Given the description of an element on the screen output the (x, y) to click on. 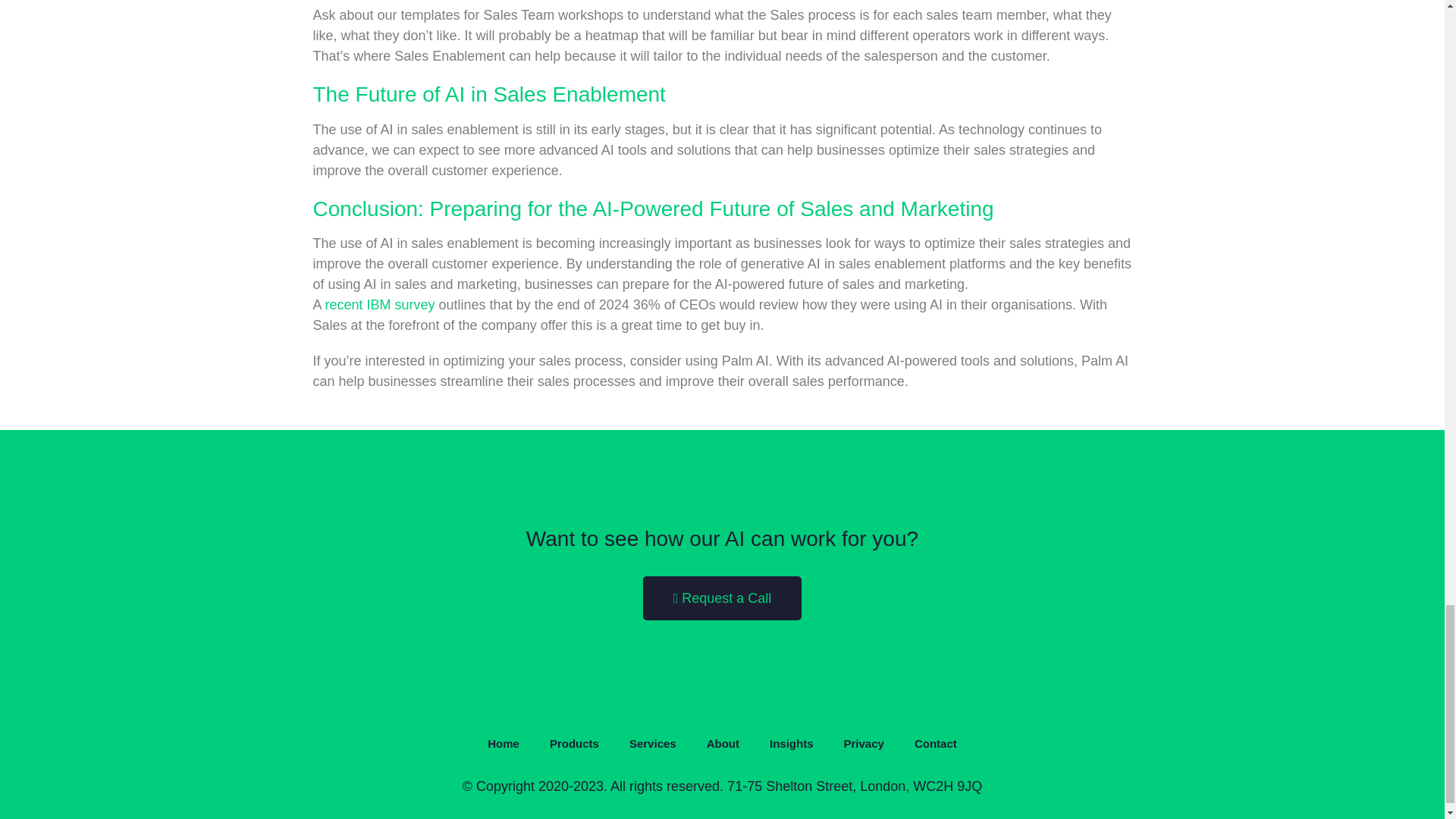
Products (574, 743)
Request a Call (722, 597)
Contact (935, 743)
Home (502, 743)
Insights (791, 743)
Privacy (863, 743)
recent IBM survey (379, 304)
About (722, 743)
Services (652, 743)
